Given the description of an element on the screen output the (x, y) to click on. 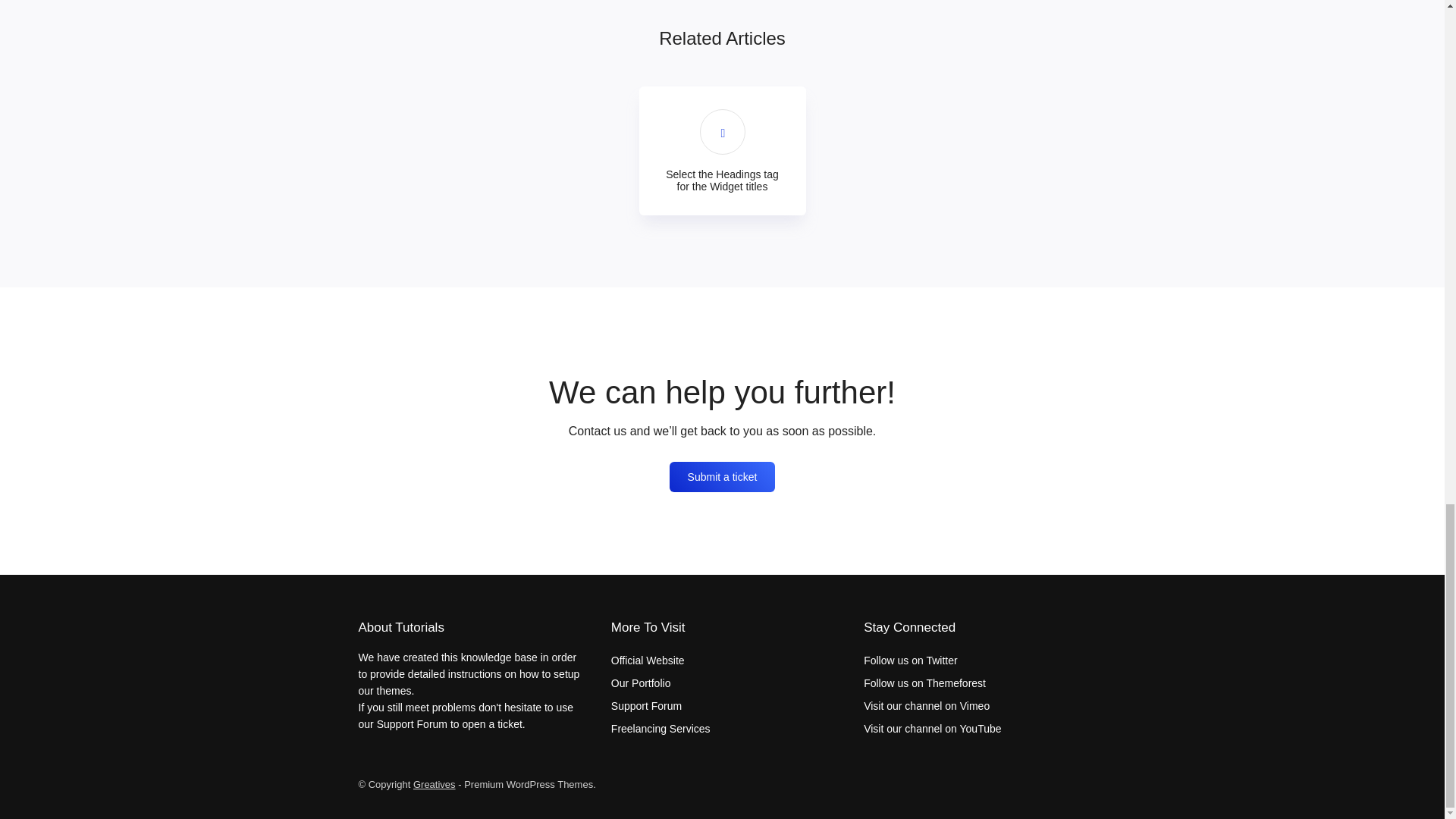
Greatives (434, 784)
Follow us on Themeforest (924, 683)
Visit our channel on Vimeo (926, 705)
Select the Headings tag for the Widget titles (722, 150)
Support Forum (411, 724)
Freelancing Services (660, 728)
Follow us on Twitter (909, 660)
Visit our channel on YouTube (932, 728)
Support Forum (646, 705)
Our Portfolio (641, 683)
